Given the description of an element on the screen output the (x, y) to click on. 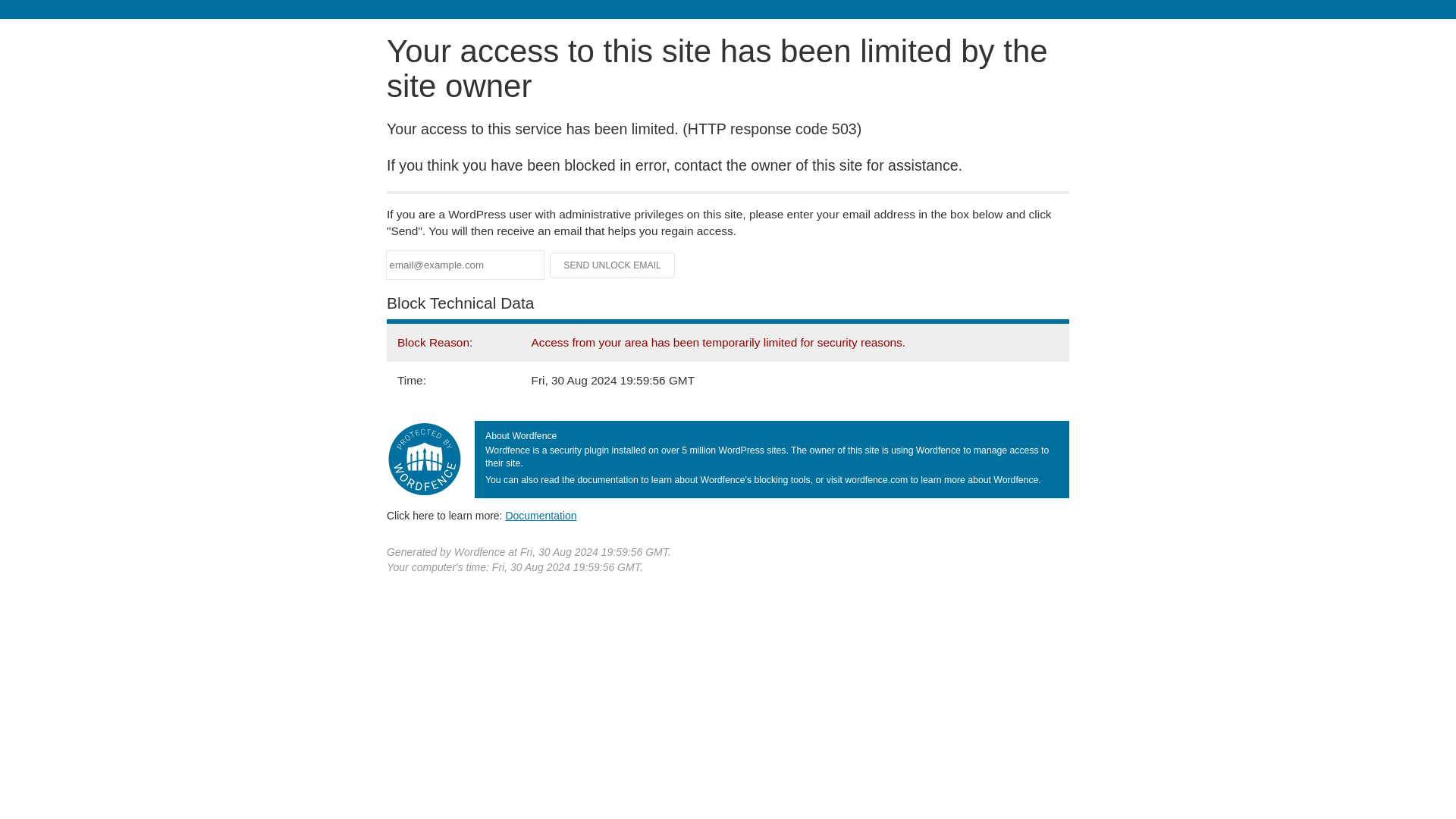
Send Unlock Email (612, 265)
Send Unlock Email (612, 265)
Documentation (540, 515)
